Given the description of an element on the screen output the (x, y) to click on. 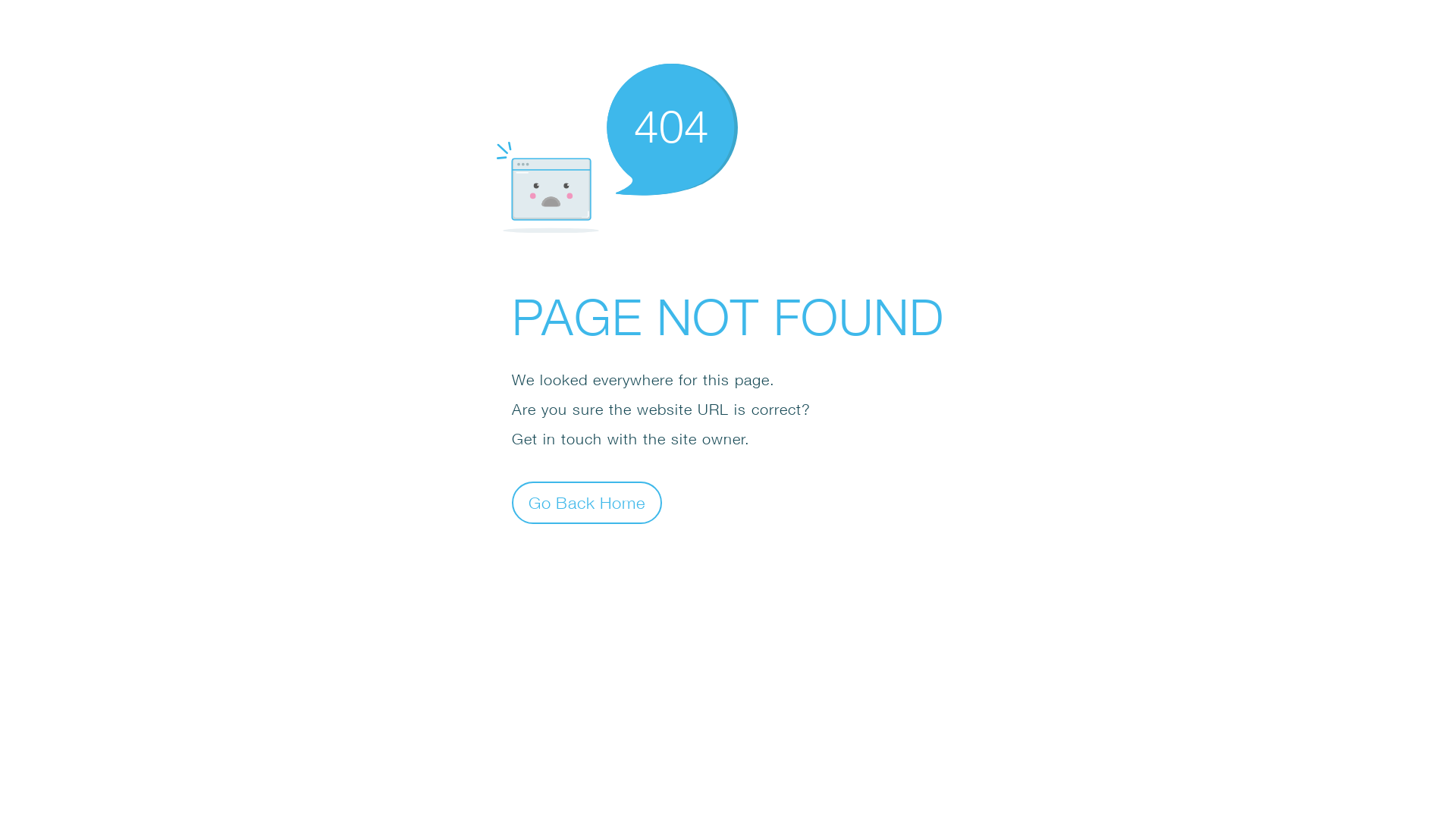
Go Back Home Element type: text (586, 502)
